Given the description of an element on the screen output the (x, y) to click on. 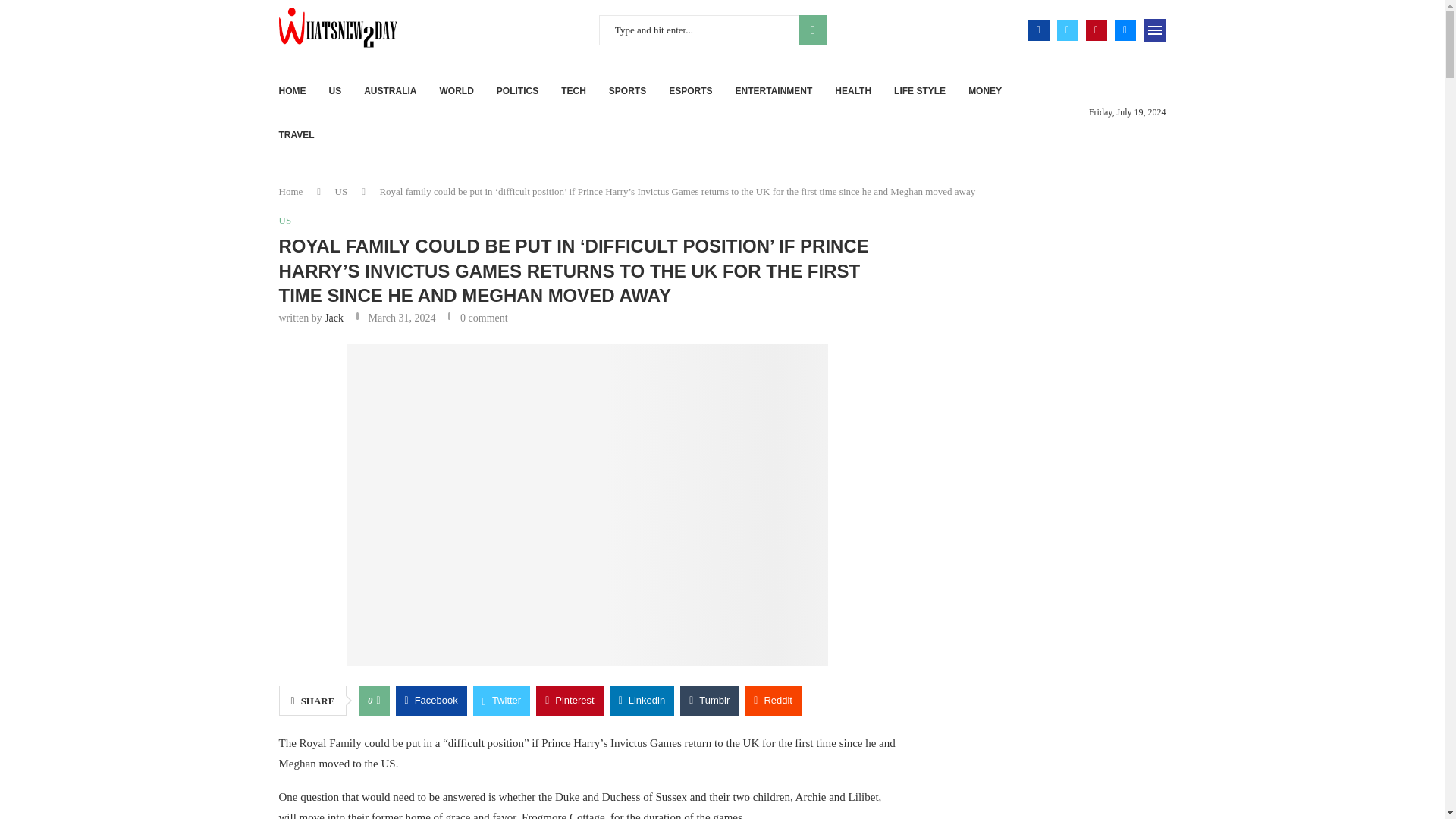
LIFE STYLE (918, 90)
ESPORTS (689, 90)
SEARCH (813, 30)
AUSTRALIA (390, 90)
POLITICS (517, 90)
ENTERTAINMENT (773, 90)
